Given the description of an element on the screen output the (x, y) to click on. 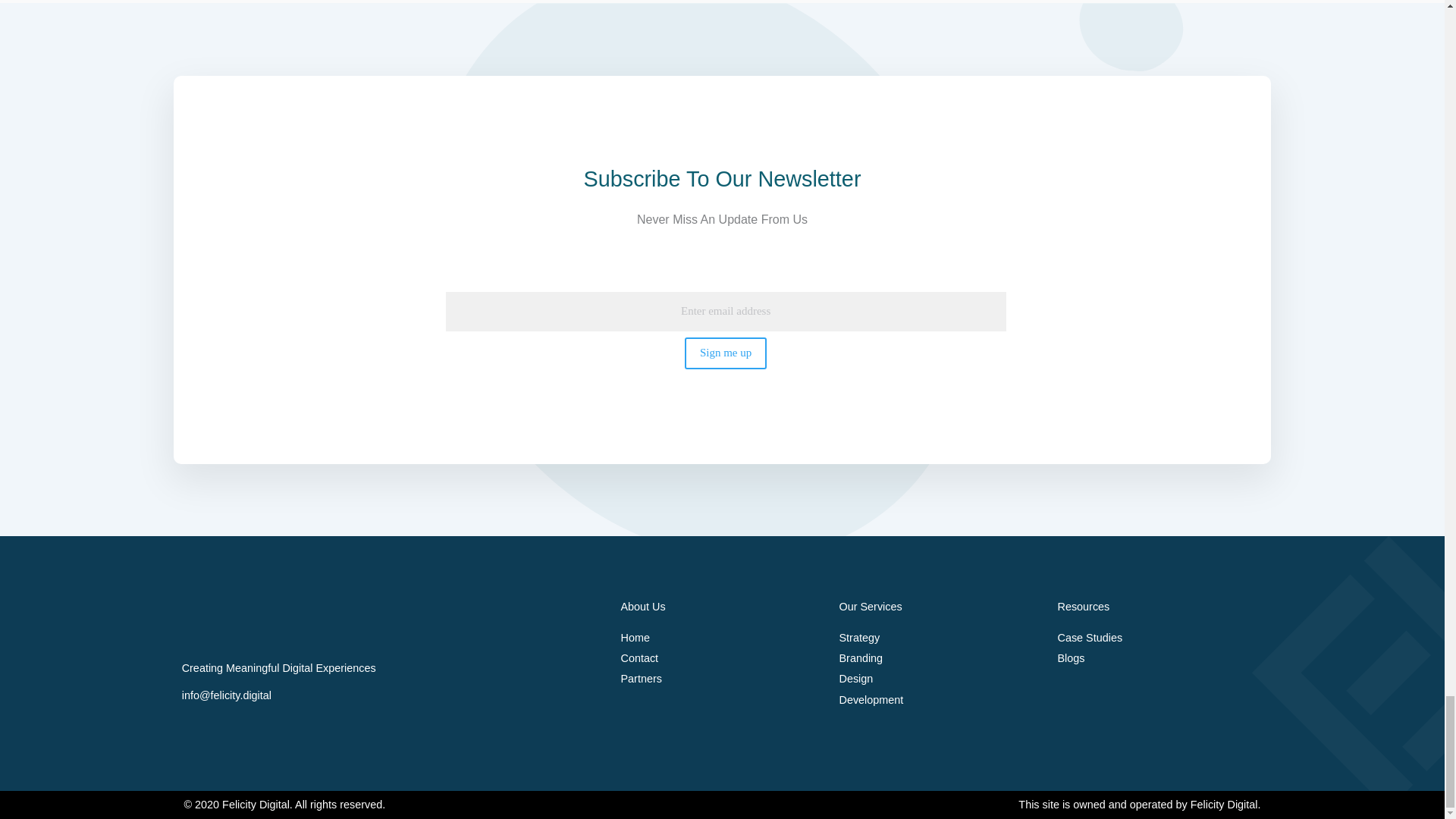
Contact (722, 658)
Home (722, 638)
Partners (722, 679)
Design (940, 679)
Sign me up (725, 353)
Strategy (940, 638)
Development (940, 700)
Branding (940, 658)
Sign me up (725, 353)
